Given the description of an element on the screen output the (x, y) to click on. 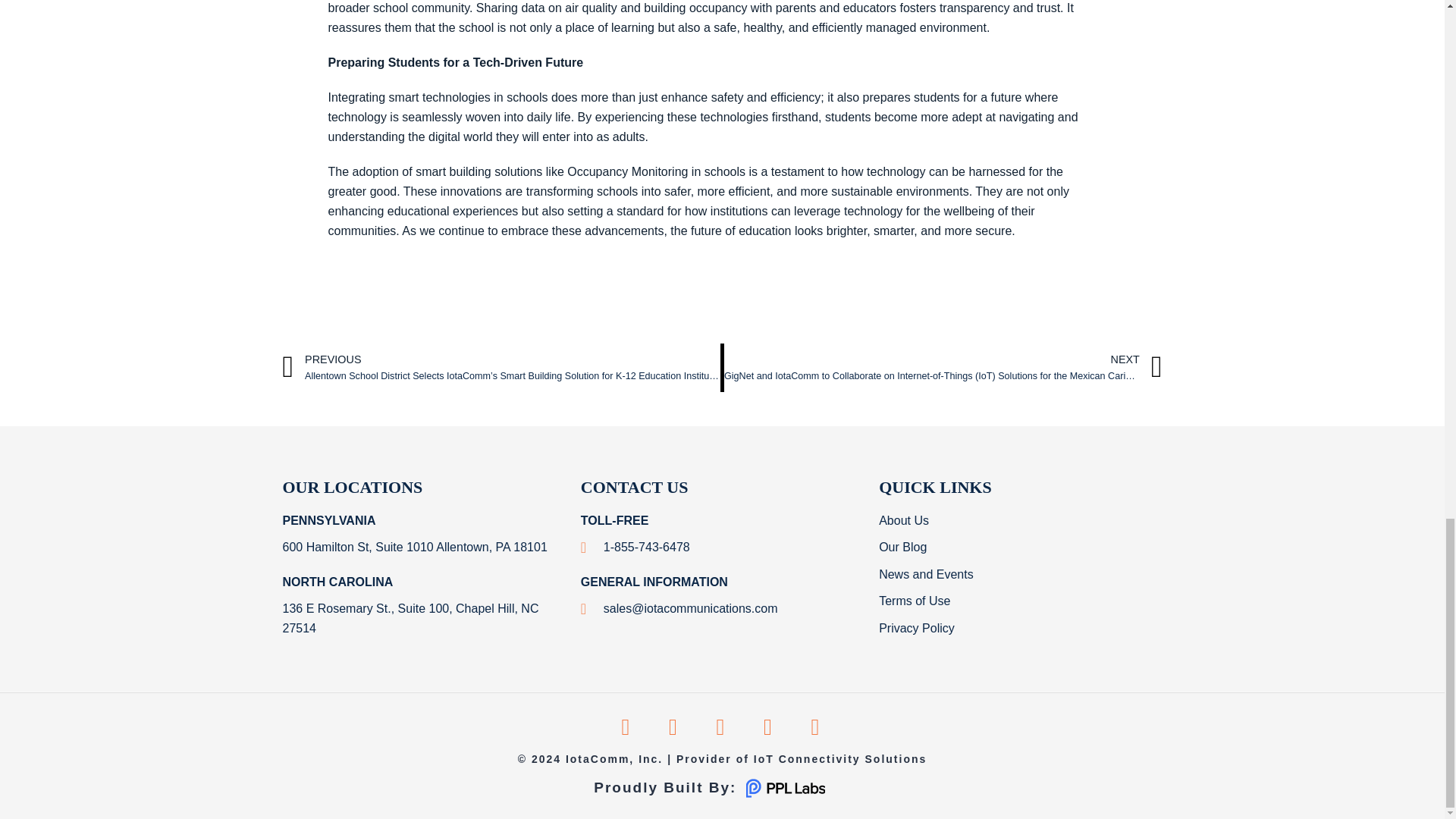
1-855-743-6478 (635, 547)
